Given the description of an element on the screen output the (x, y) to click on. 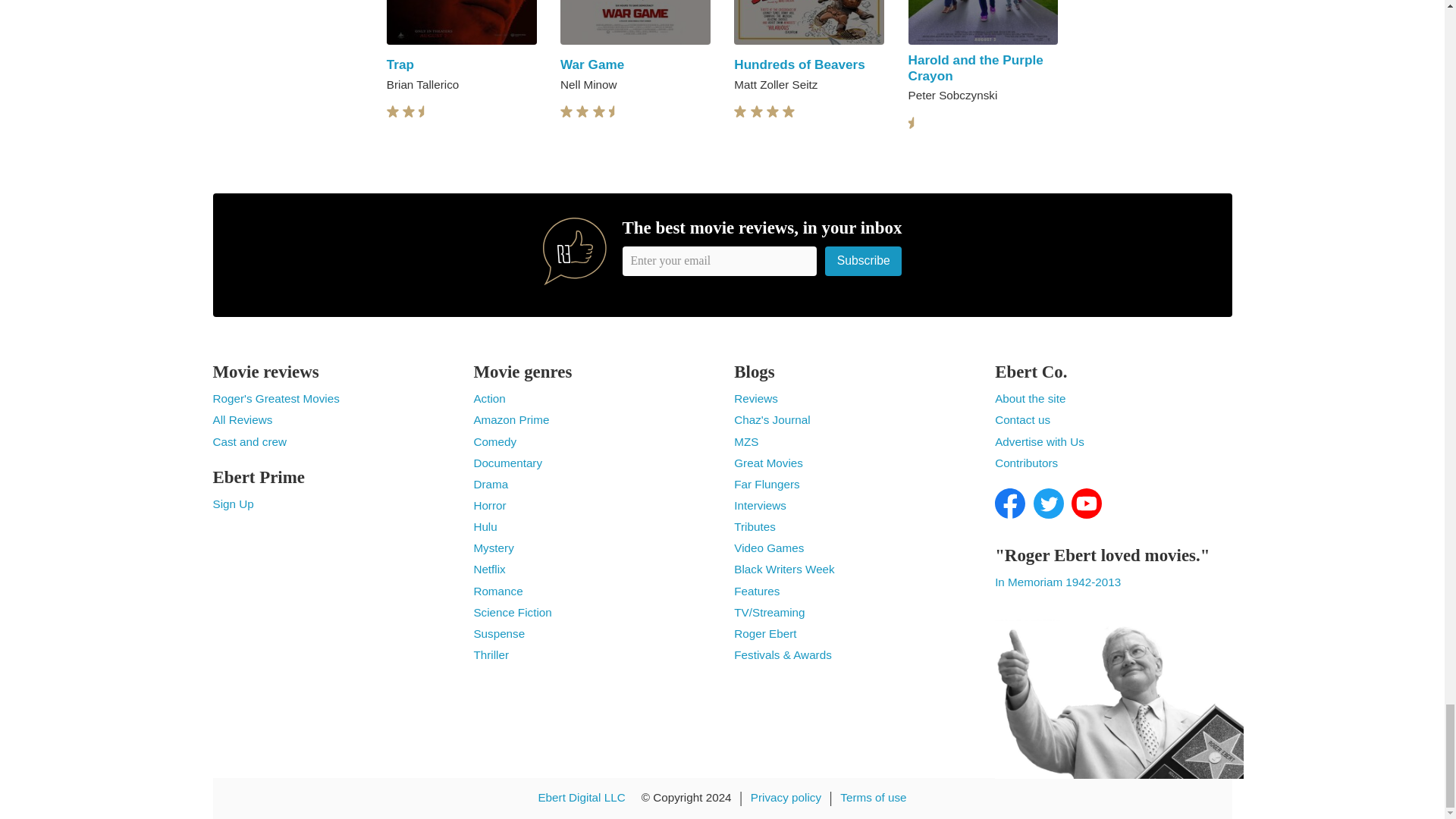
Subscribe (863, 260)
